Given the description of an element on the screen output the (x, y) to click on. 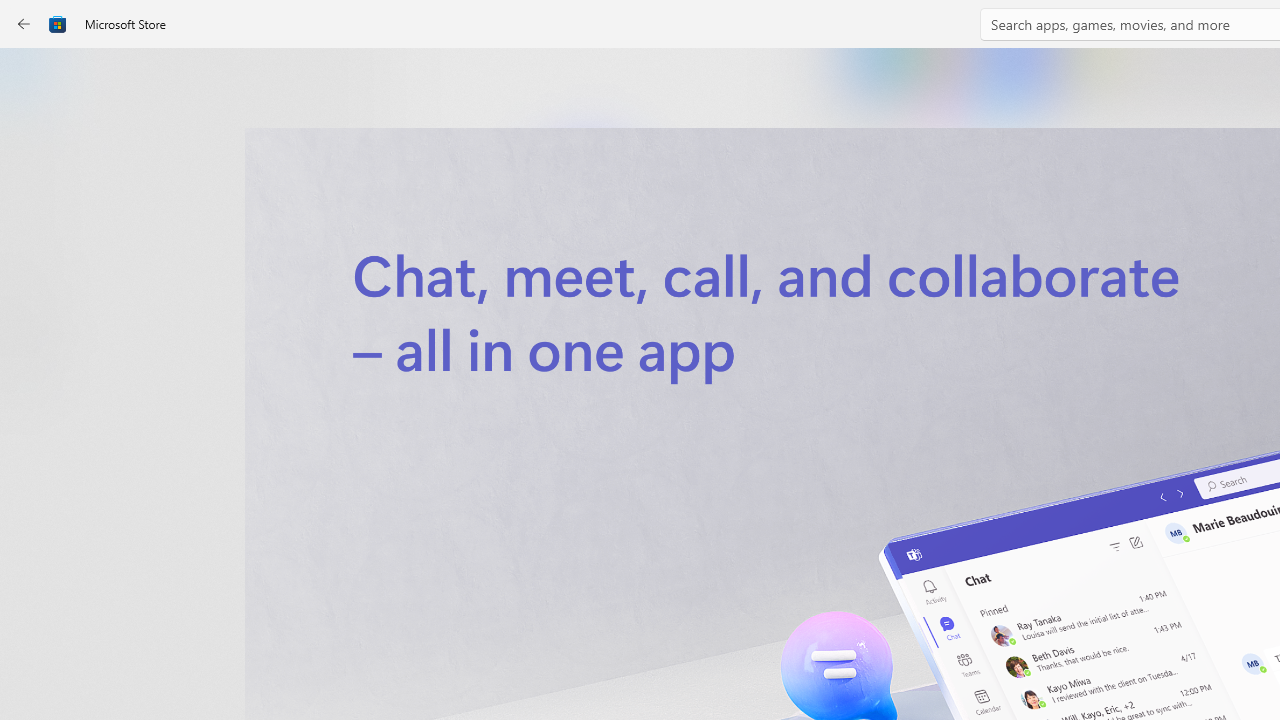
Class: Image (58, 24)
Arcade (35, 265)
Sign in to review (882, 667)
Home (35, 79)
AI Hub (35, 390)
Install (586, 428)
Entertainment (35, 327)
Apps (35, 141)
2.6 stars. Click to skip to ratings and reviews (542, 543)
Microsoft Corporation (673, 333)
Back (24, 24)
Show more (854, 428)
Gaming (35, 203)
